Given the description of an element on the screen output the (x, y) to click on. 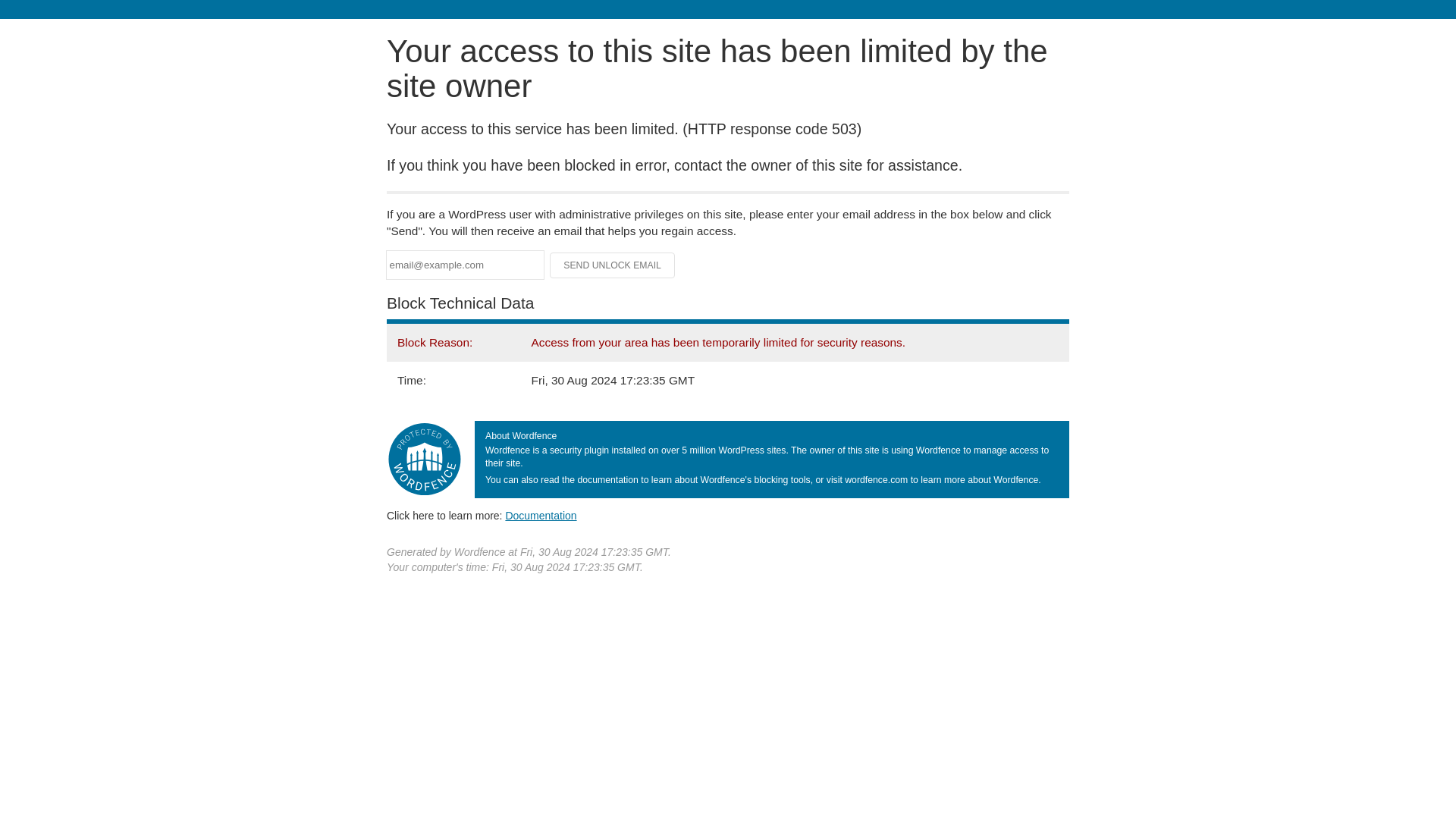
Send Unlock Email (612, 265)
Send Unlock Email (612, 265)
Documentation (540, 515)
